Given the description of an element on the screen output the (x, y) to click on. 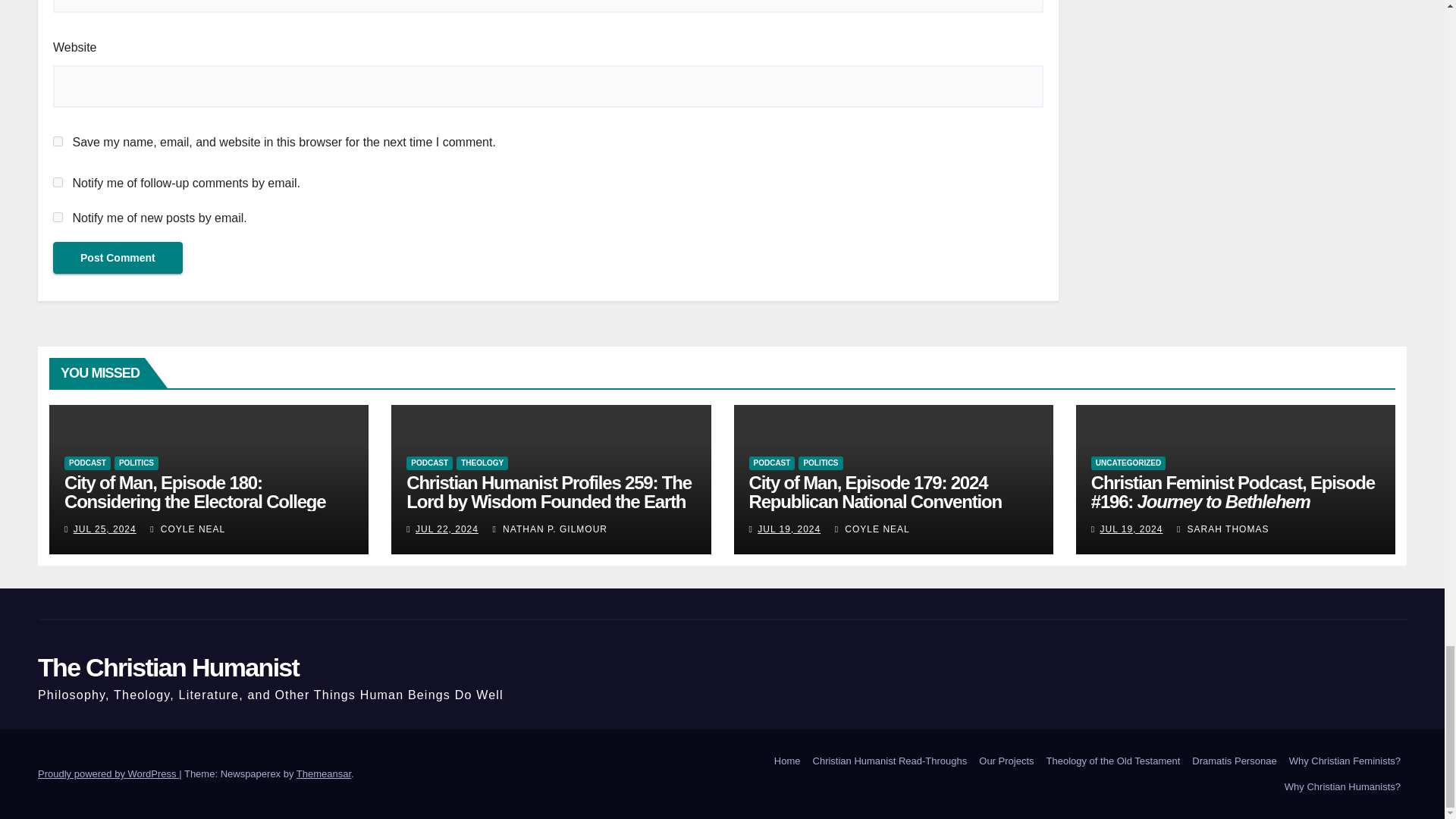
Post Comment (117, 257)
subscribe (57, 182)
yes (57, 141)
subscribe (57, 216)
